Given the description of an element on the screen output the (x, y) to click on. 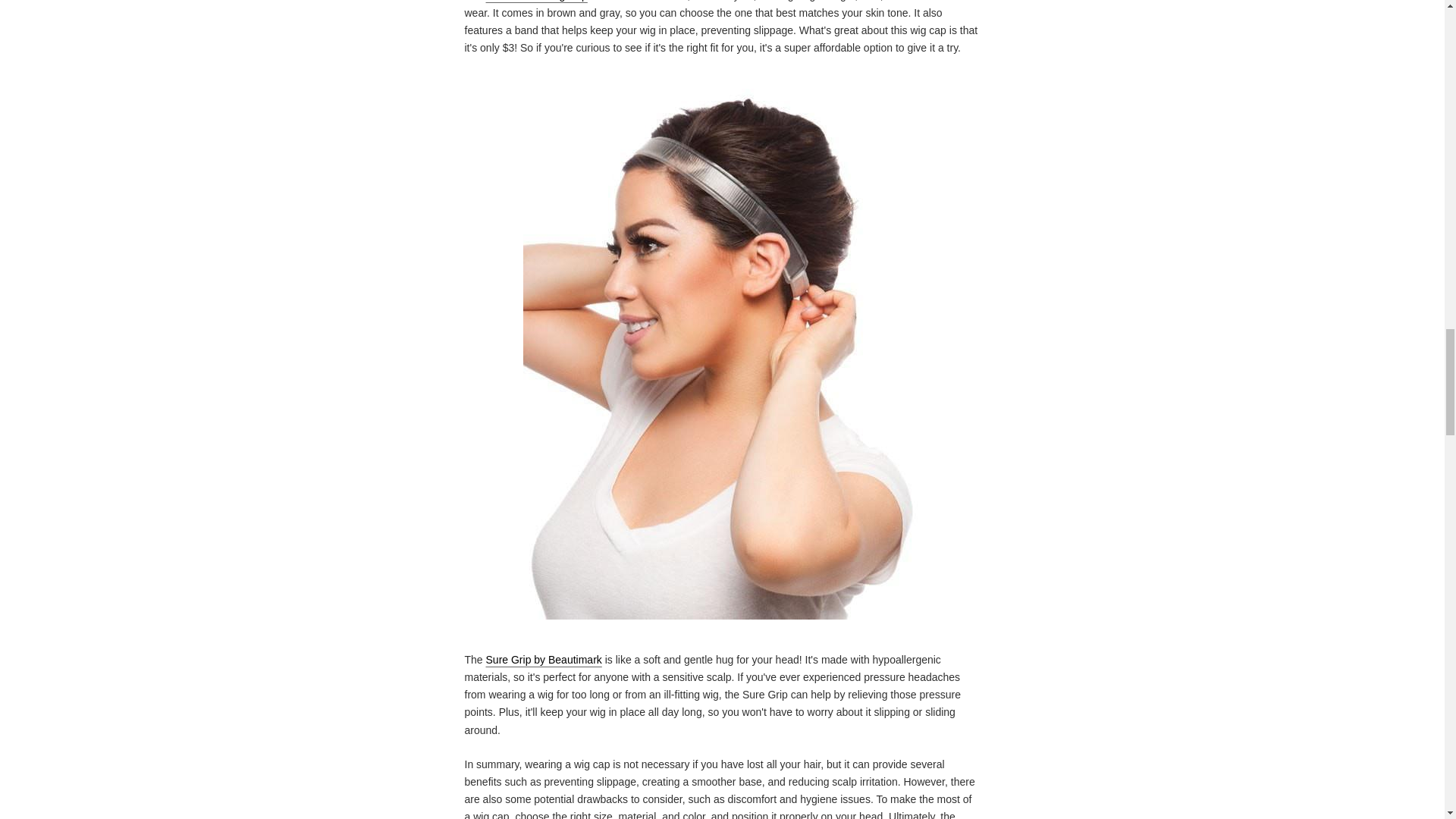
Sure Grip for Wig (544, 659)
Wig Cap (537, 0)
